Given the description of an element on the screen output the (x, y) to click on. 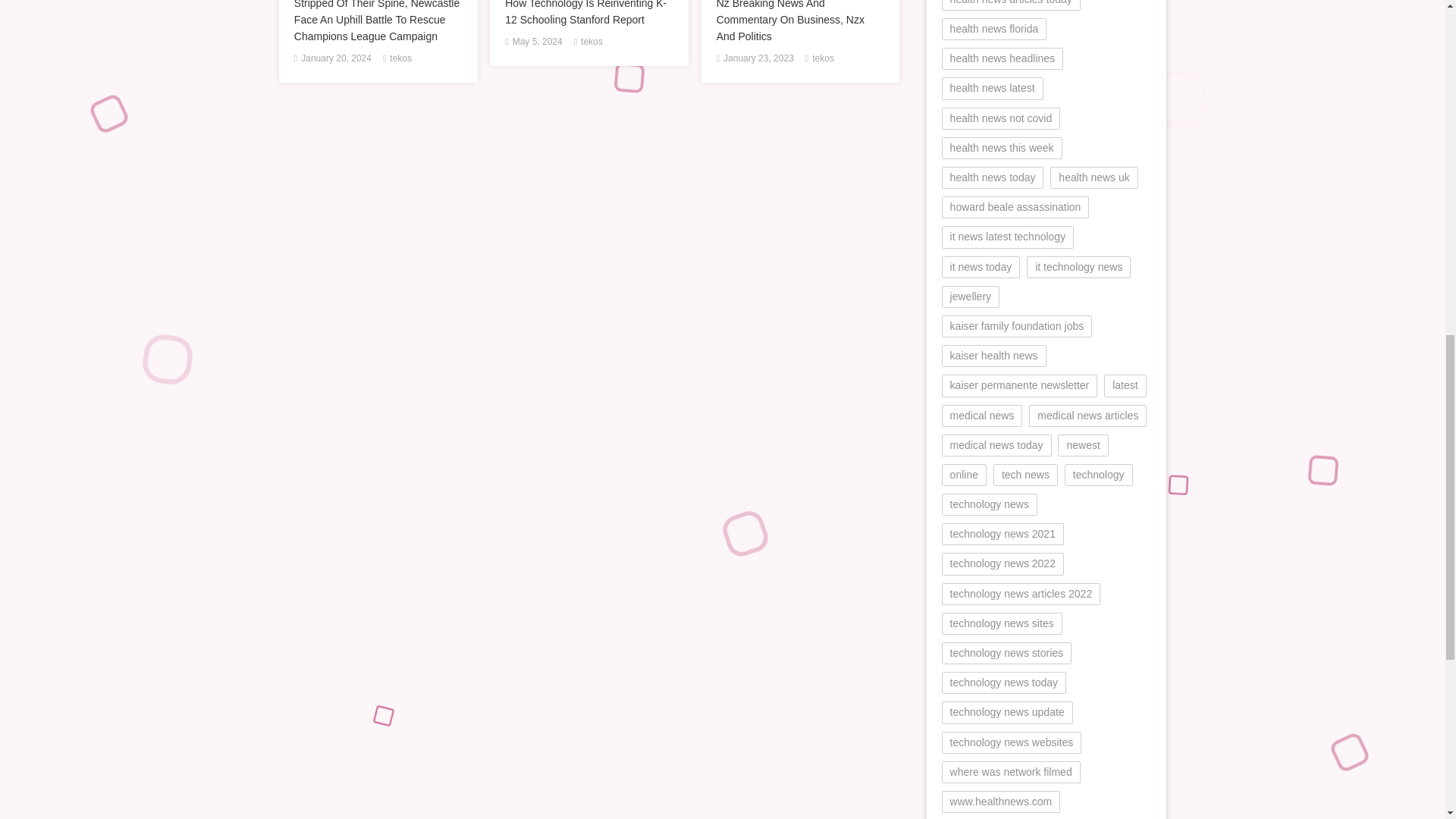
How Technology Is Reinventing K-12 Schooling Stanford Report (588, 13)
tekos (591, 42)
tekos (823, 58)
May 5, 2024 (537, 42)
January 23, 2023 (758, 58)
tekos (401, 58)
January 20, 2024 (336, 58)
